Given the description of an element on the screen output the (x, y) to click on. 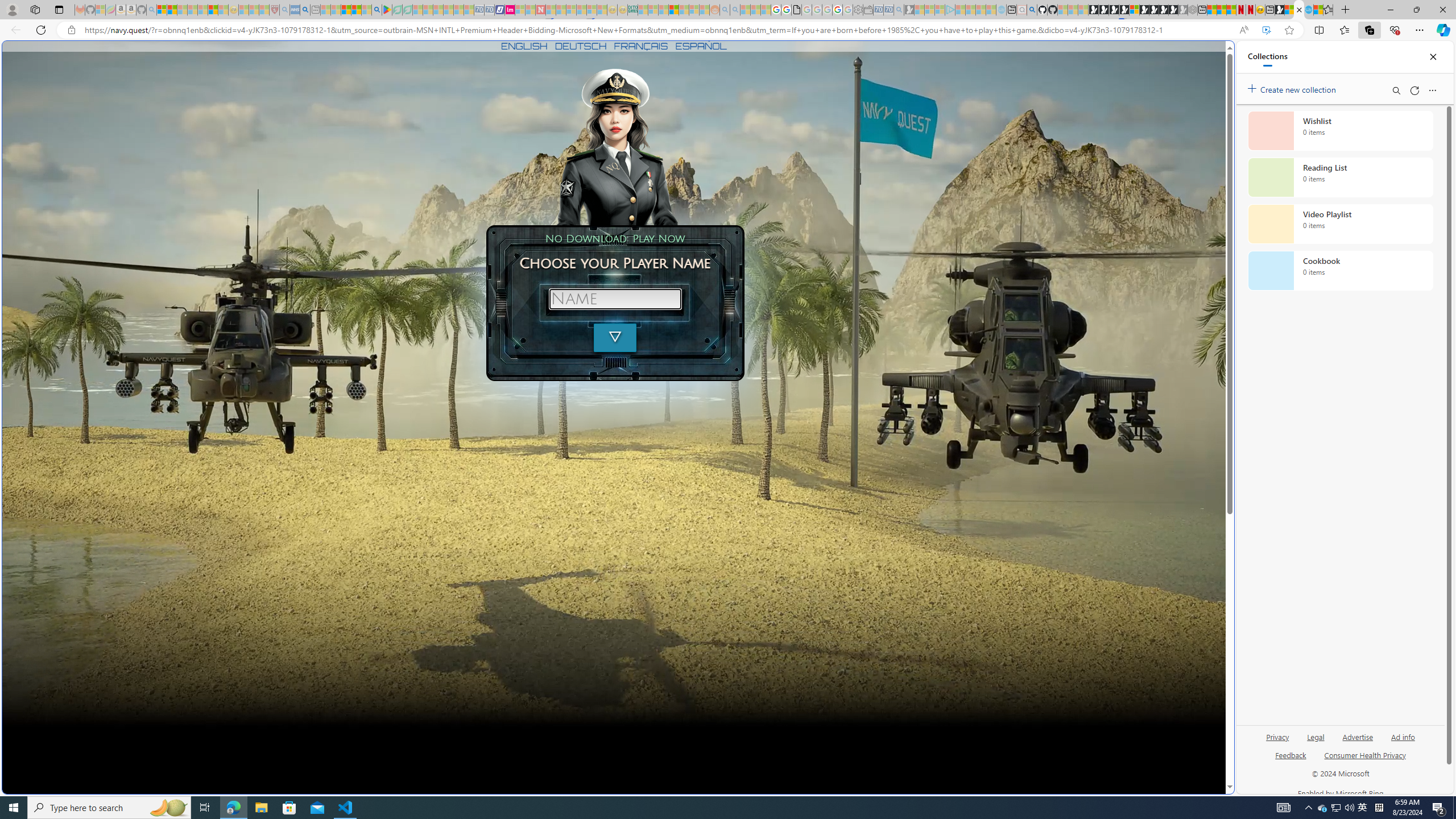
More options menu (1432, 90)
